Given the description of an element on the screen output the (x, y) to click on. 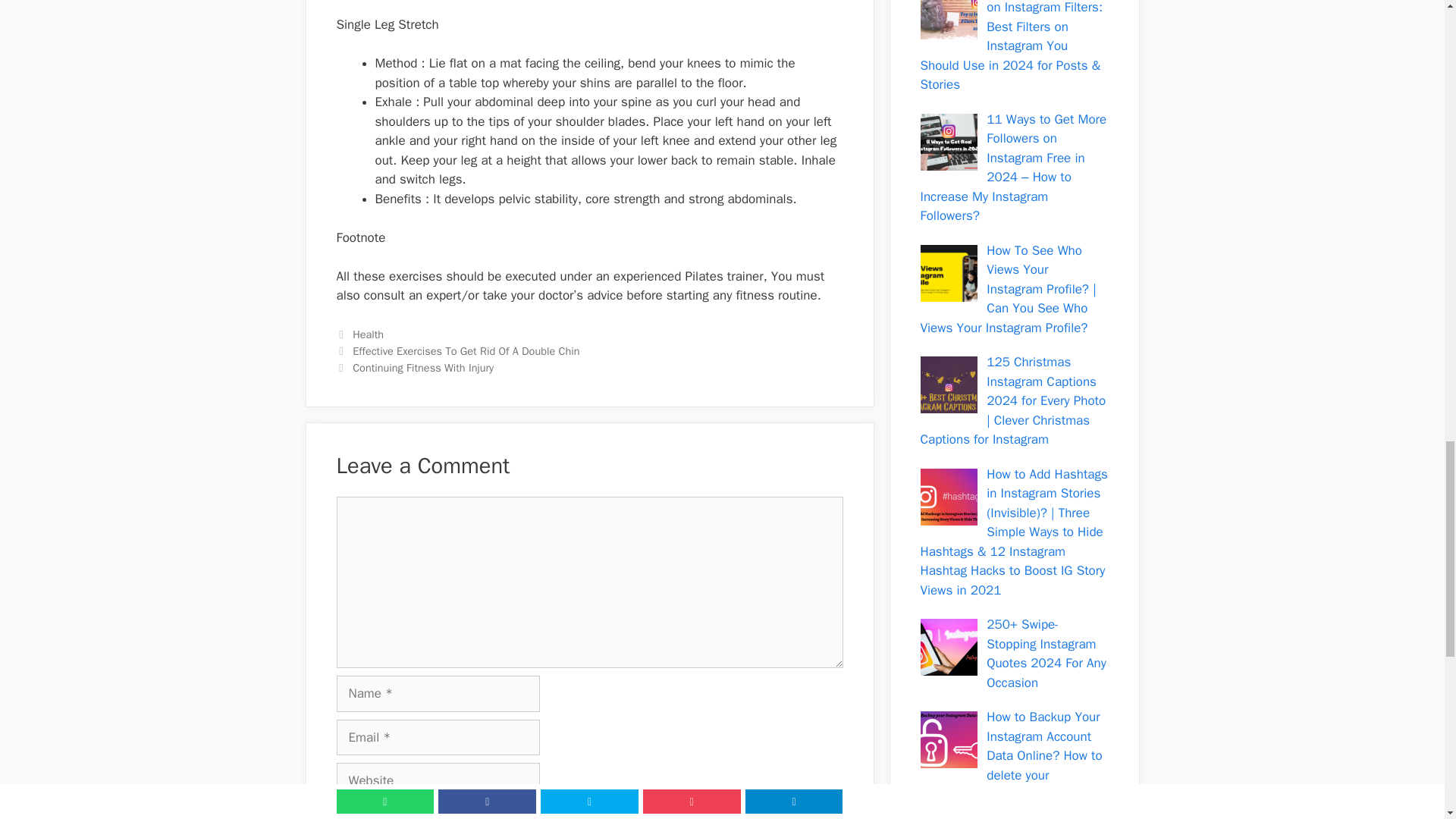
yes (341, 815)
Continuing Fitness With Injury (422, 367)
Health (368, 334)
Effective Exercises To Get Rid Of A Double Chin (465, 350)
